Given the description of an element on the screen output the (x, y) to click on. 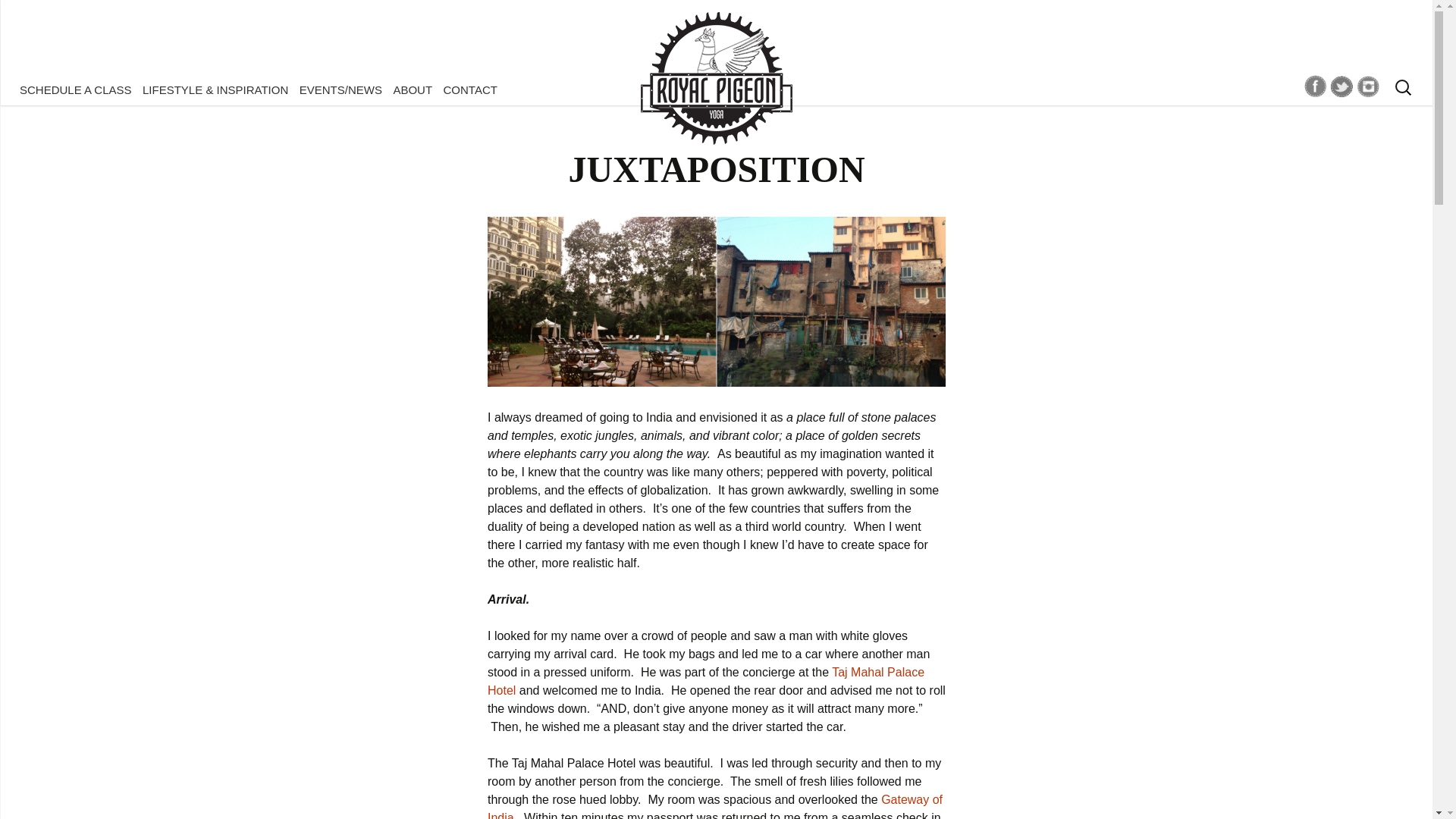
Search (18, 15)
Skip to content (56, 89)
ABOUT (411, 89)
CONTACT (469, 89)
Gateway of India (714, 806)
SCHEDULE A CLASS (75, 89)
Skip to content (56, 89)
Taj Mahal Palace Hotel (705, 680)
